Given the description of an element on the screen output the (x, y) to click on. 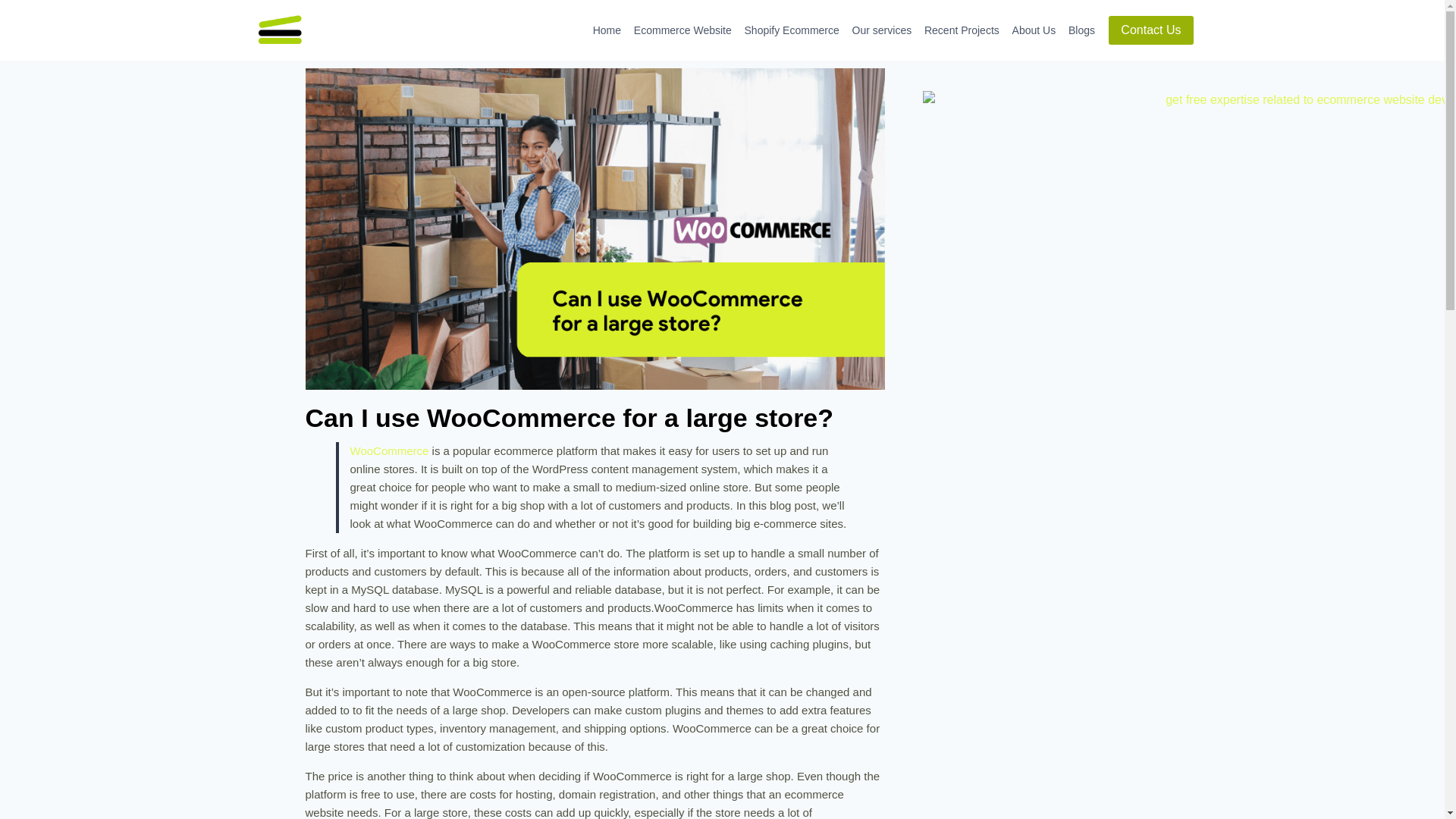
Ecommerce Website (682, 30)
Contact Us (1150, 30)
Home (606, 30)
Shopify Ecommerce (791, 30)
Recent Projects (962, 30)
WooCommerce (389, 450)
Blogs (1082, 30)
About Us (1033, 30)
Our services (881, 30)
